Given the description of an element on the screen output the (x, y) to click on. 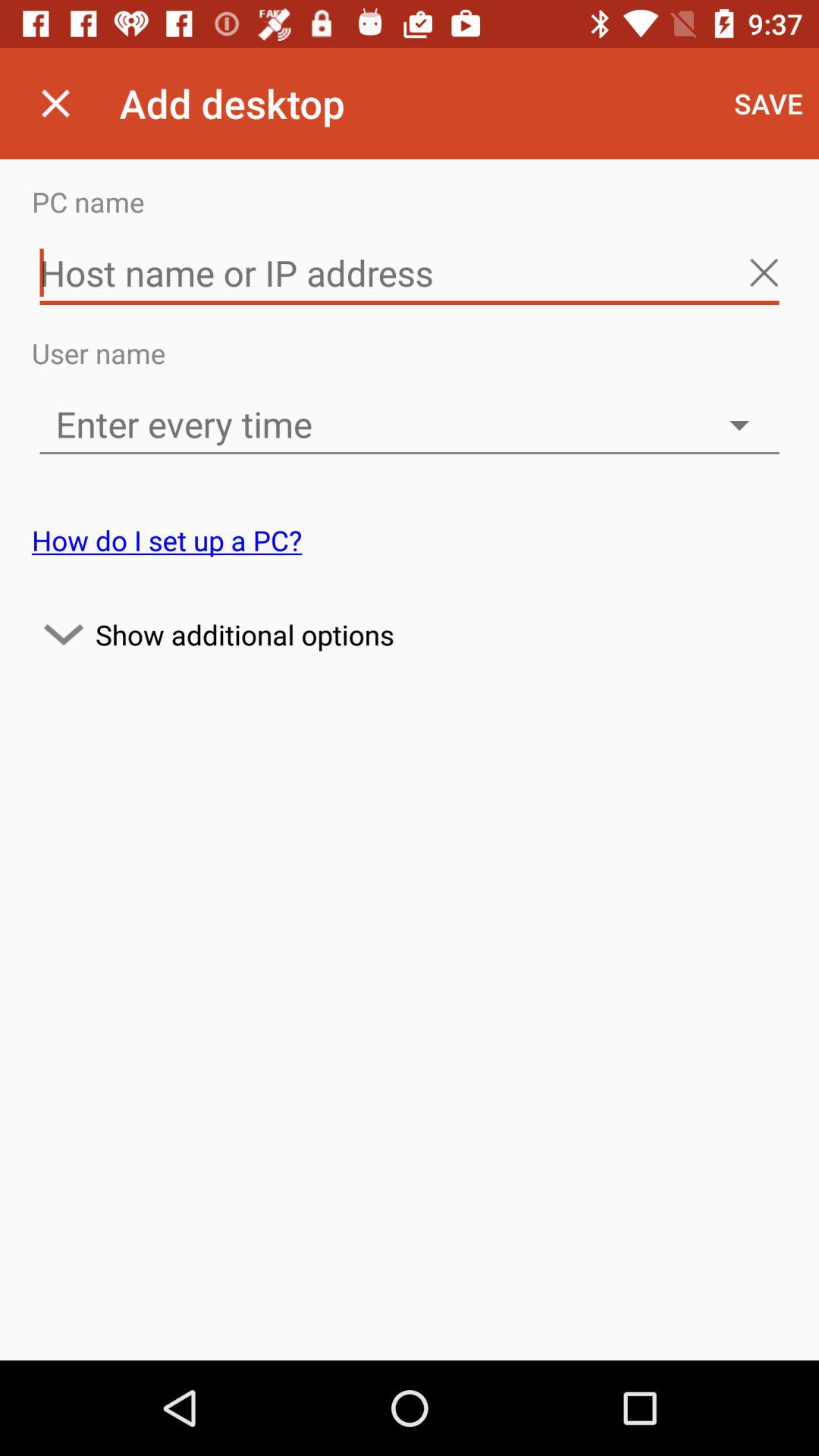
turn off the how do i icon (166, 540)
